Given the description of an element on the screen output the (x, y) to click on. 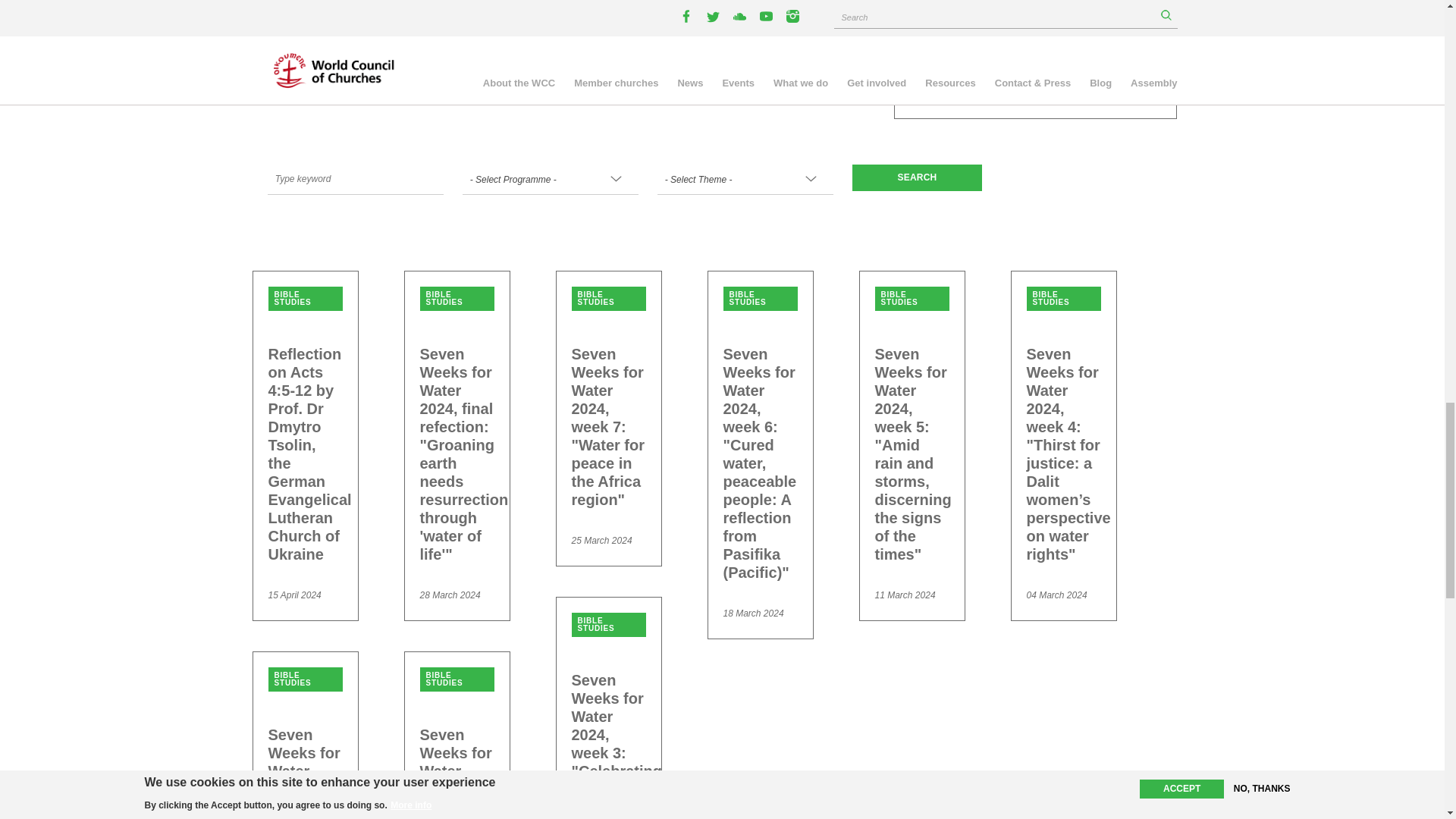
Search (916, 177)
